Given the description of an element on the screen output the (x, y) to click on. 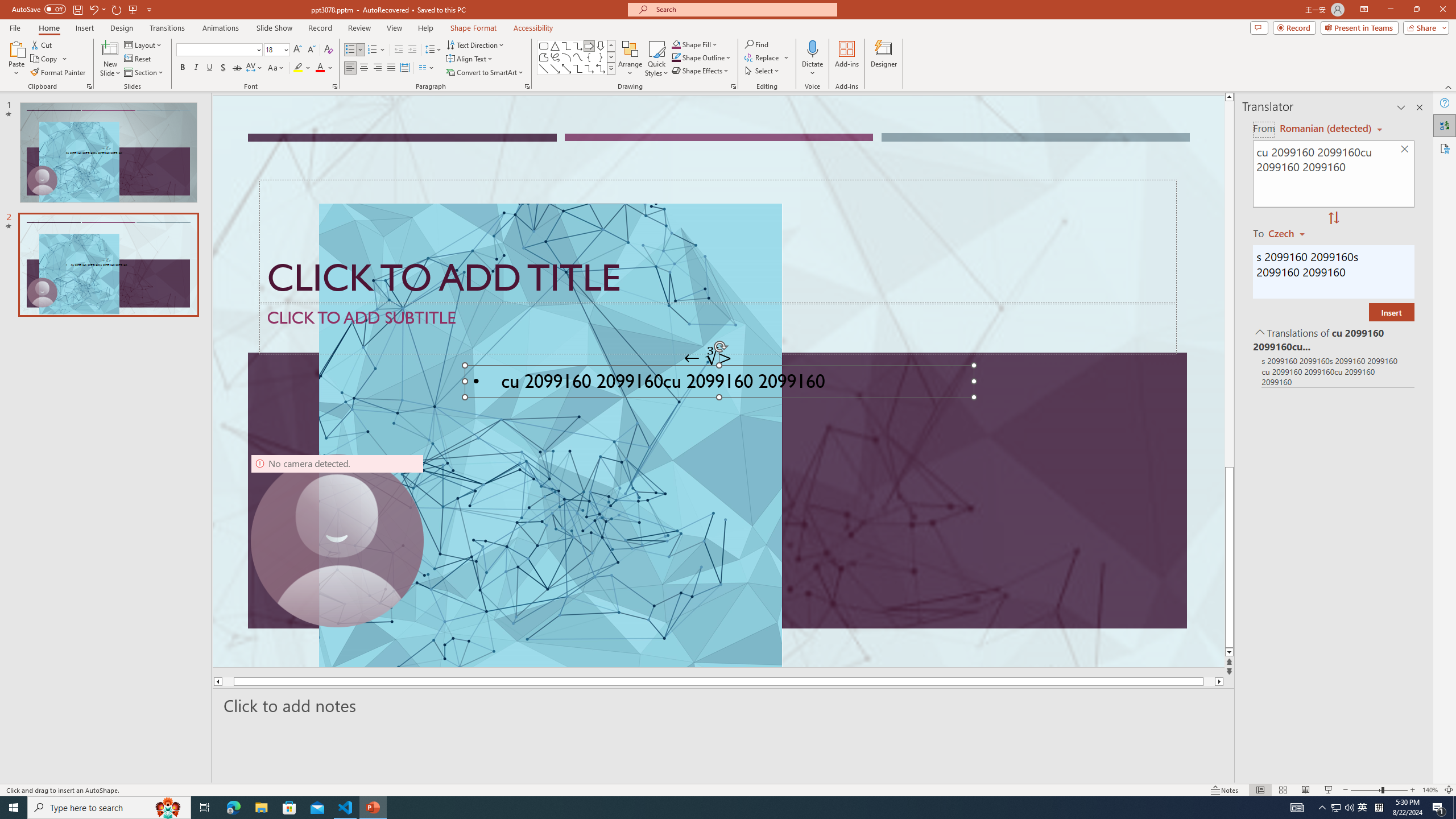
An abstract genetic concept (718, 381)
TextBox 61 (717, 383)
